Given the description of an element on the screen output the (x, y) to click on. 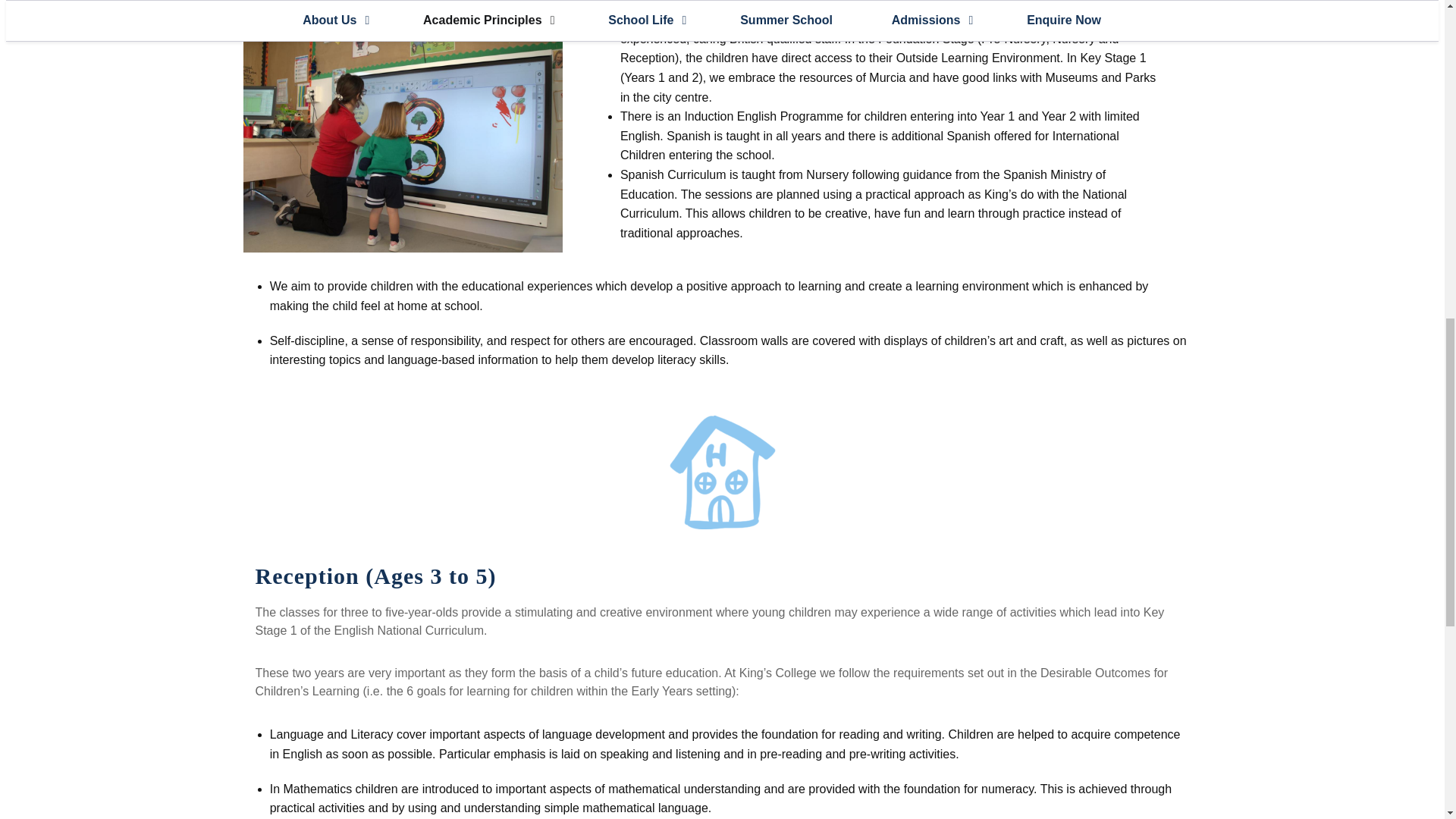
infant education (402, 130)
